Given the description of an element on the screen output the (x, y) to click on. 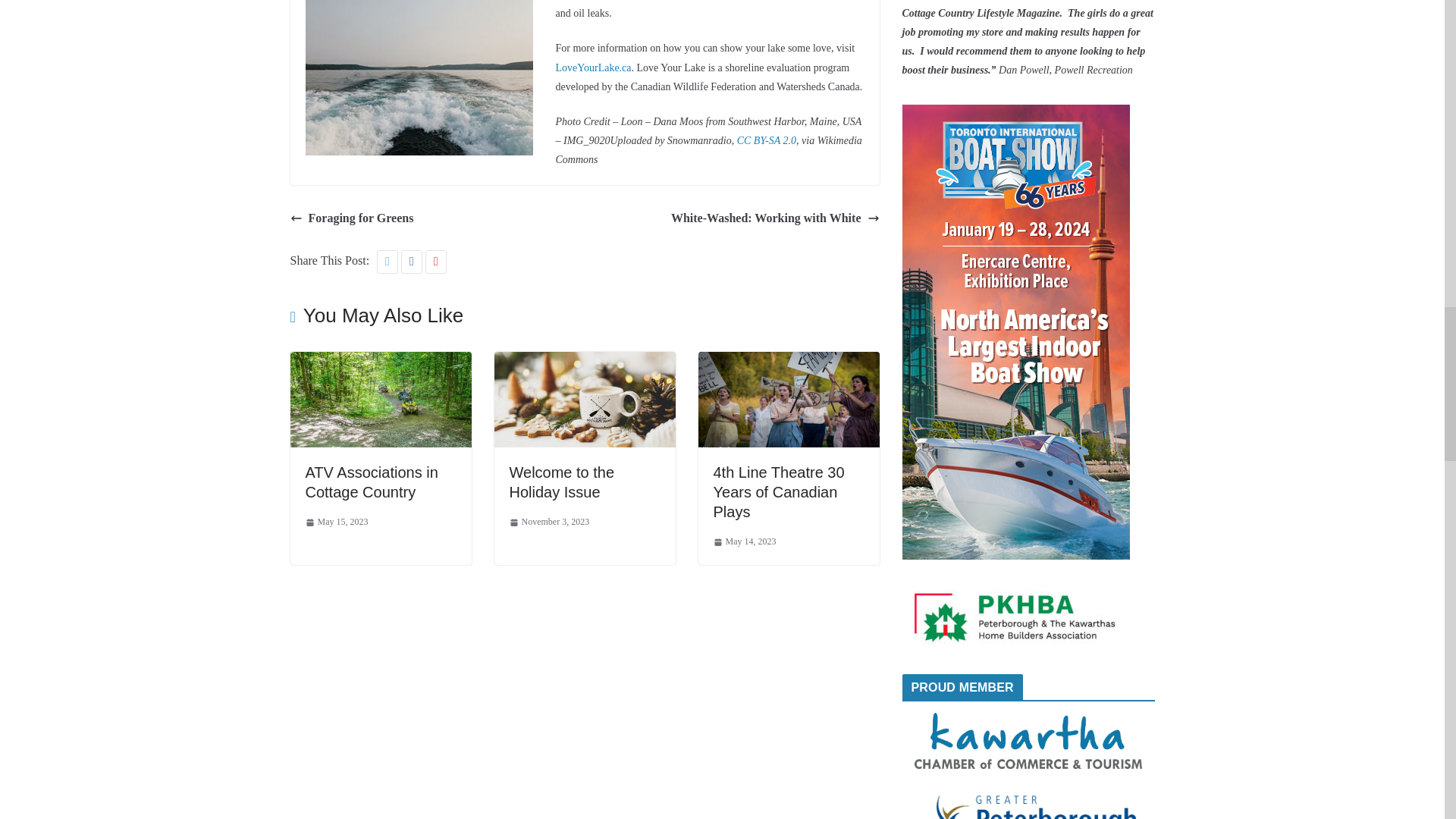
Welcome to the Holiday Issue (561, 482)
ATV Associations in Cottage Country (379, 361)
ATV Associations in Cottage Country (371, 482)
7:00 am (336, 522)
Welcome to the Holiday Issue (585, 361)
7:51 pm (549, 522)
